Given the description of an element on the screen output the (x, y) to click on. 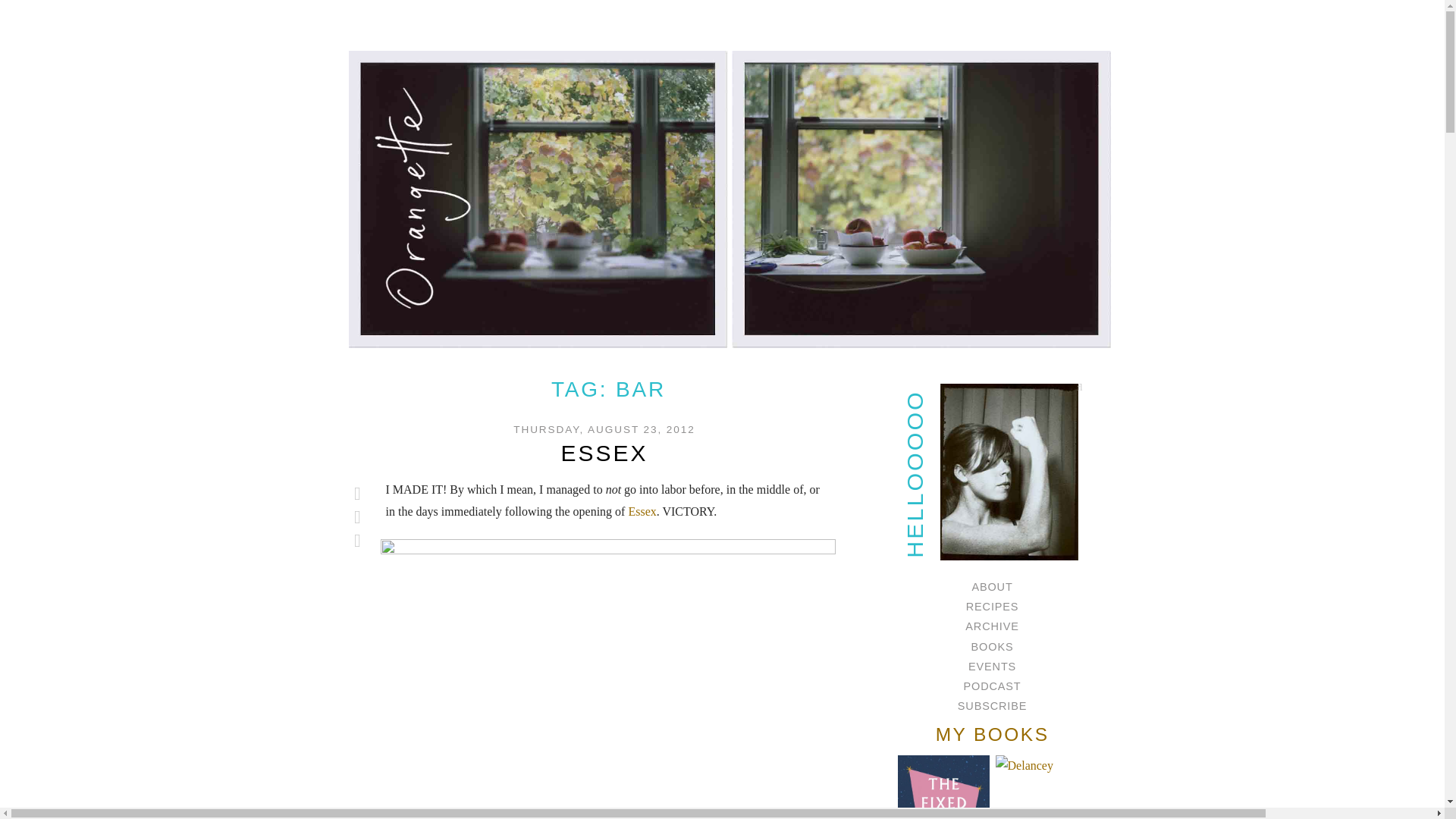
ESSEX (603, 453)
Twitter (357, 493)
Facebook (357, 516)
Essex (641, 511)
Pinterest (357, 540)
